Given the description of an element on the screen output the (x, y) to click on. 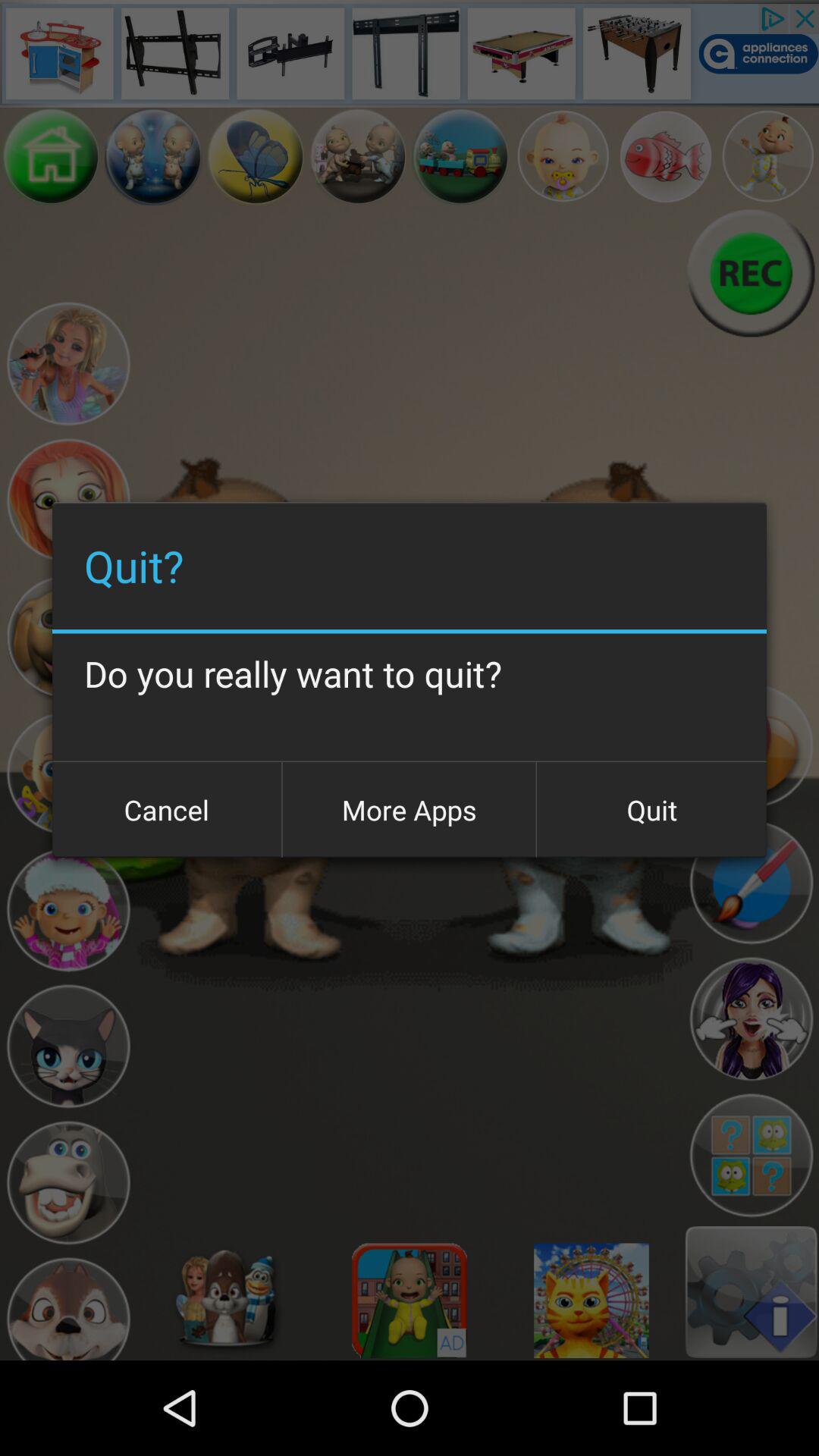
for image (409, 1300)
